Given the description of an element on the screen output the (x, y) to click on. 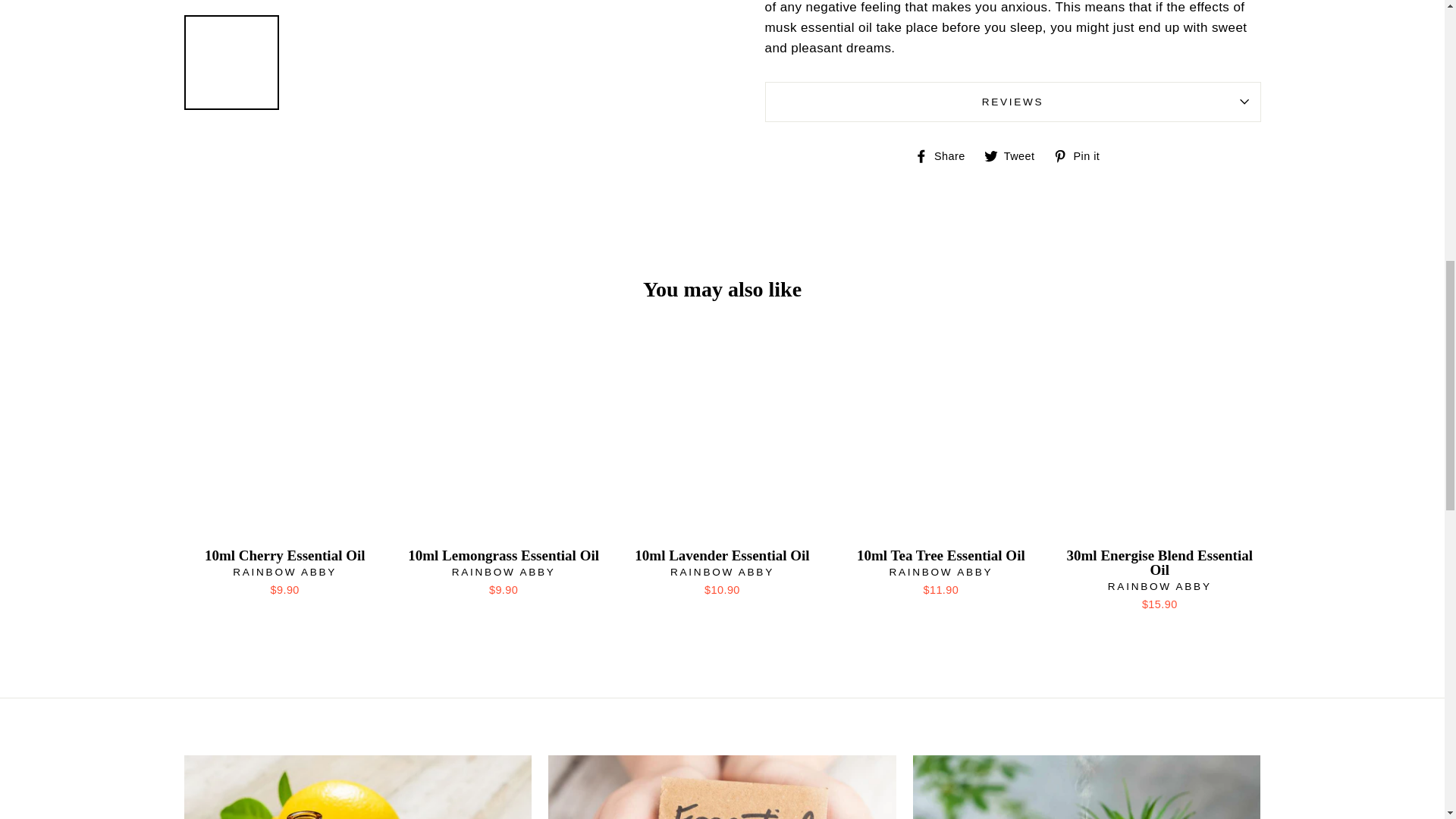
Pin on Pinterest (1081, 155)
Share on Facebook (945, 155)
Tweet on Twitter (1015, 155)
